Given the description of an element on the screen output the (x, y) to click on. 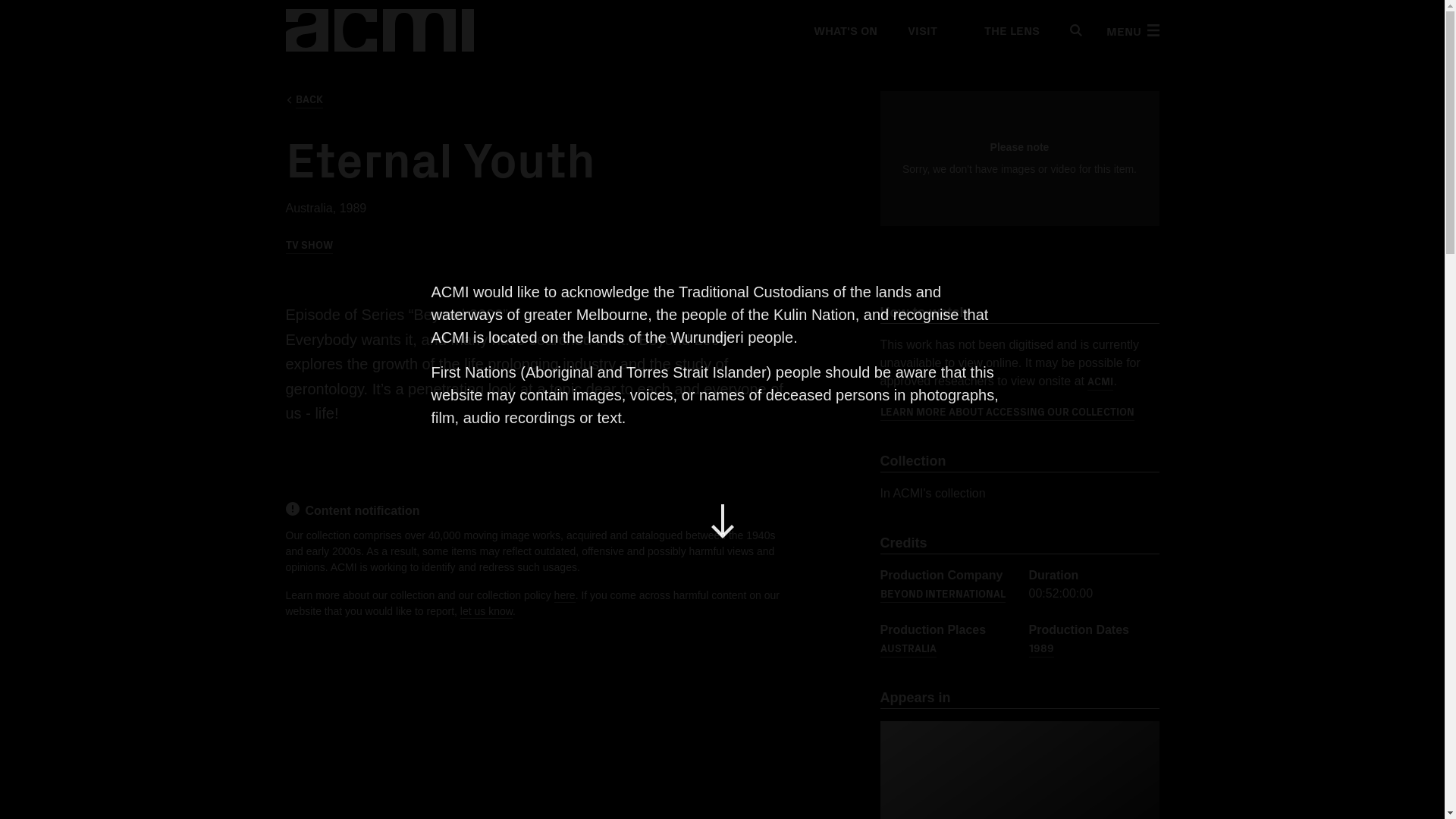
THE LENS (1003, 30)
MENU (1131, 29)
VISIT (921, 30)
WHAT'S ON (844, 30)
